Given the description of an element on the screen output the (x, y) to click on. 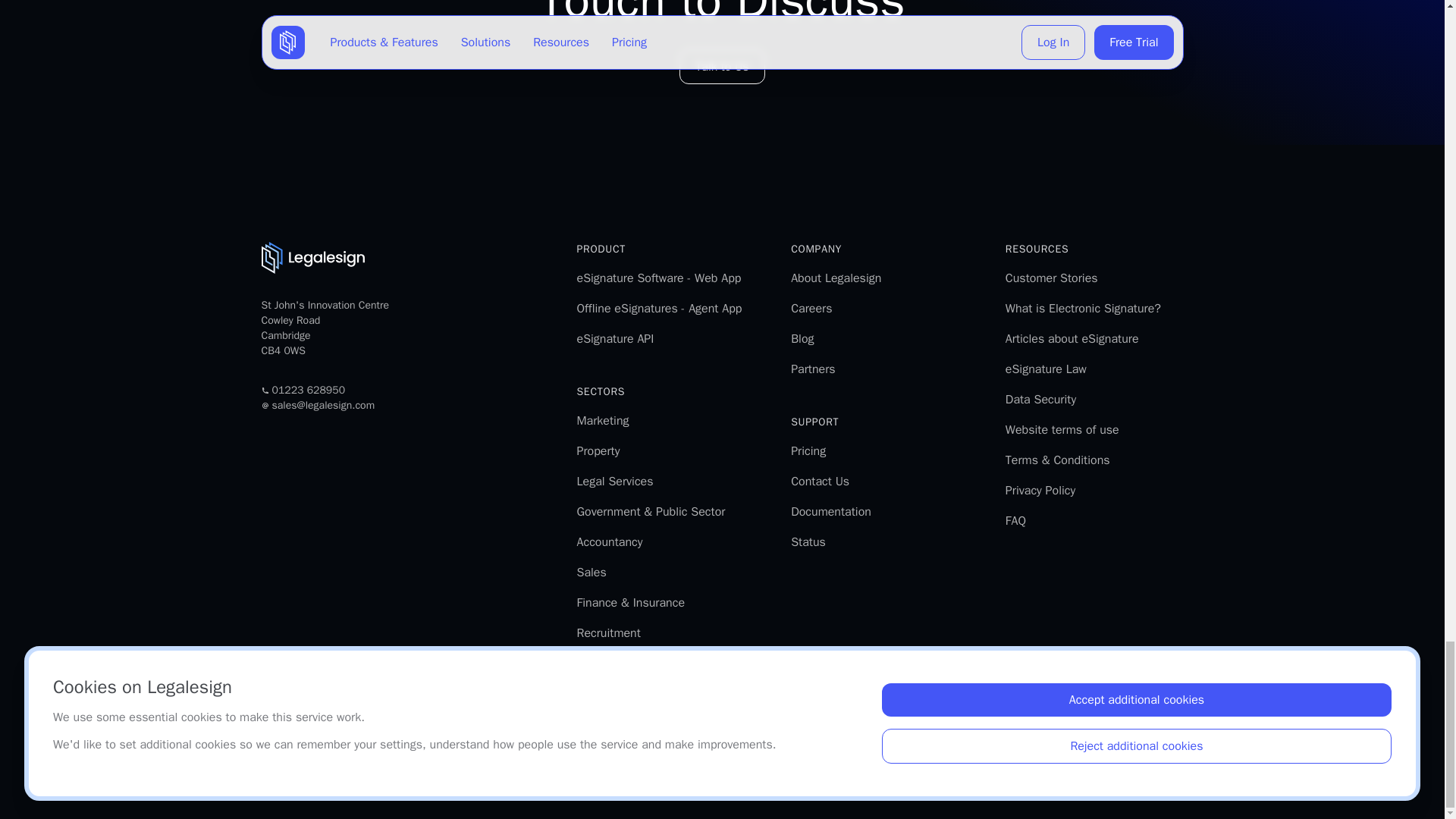
Legal Services (614, 481)
eSignature Law (1046, 368)
eSignature API (614, 338)
Offline eSignatures - Agent App (658, 308)
Status (807, 541)
Data Security (1040, 399)
Property (598, 450)
Recruitment (608, 632)
Marketing (602, 420)
Partners (812, 368)
